Given the description of an element on the screen output the (x, y) to click on. 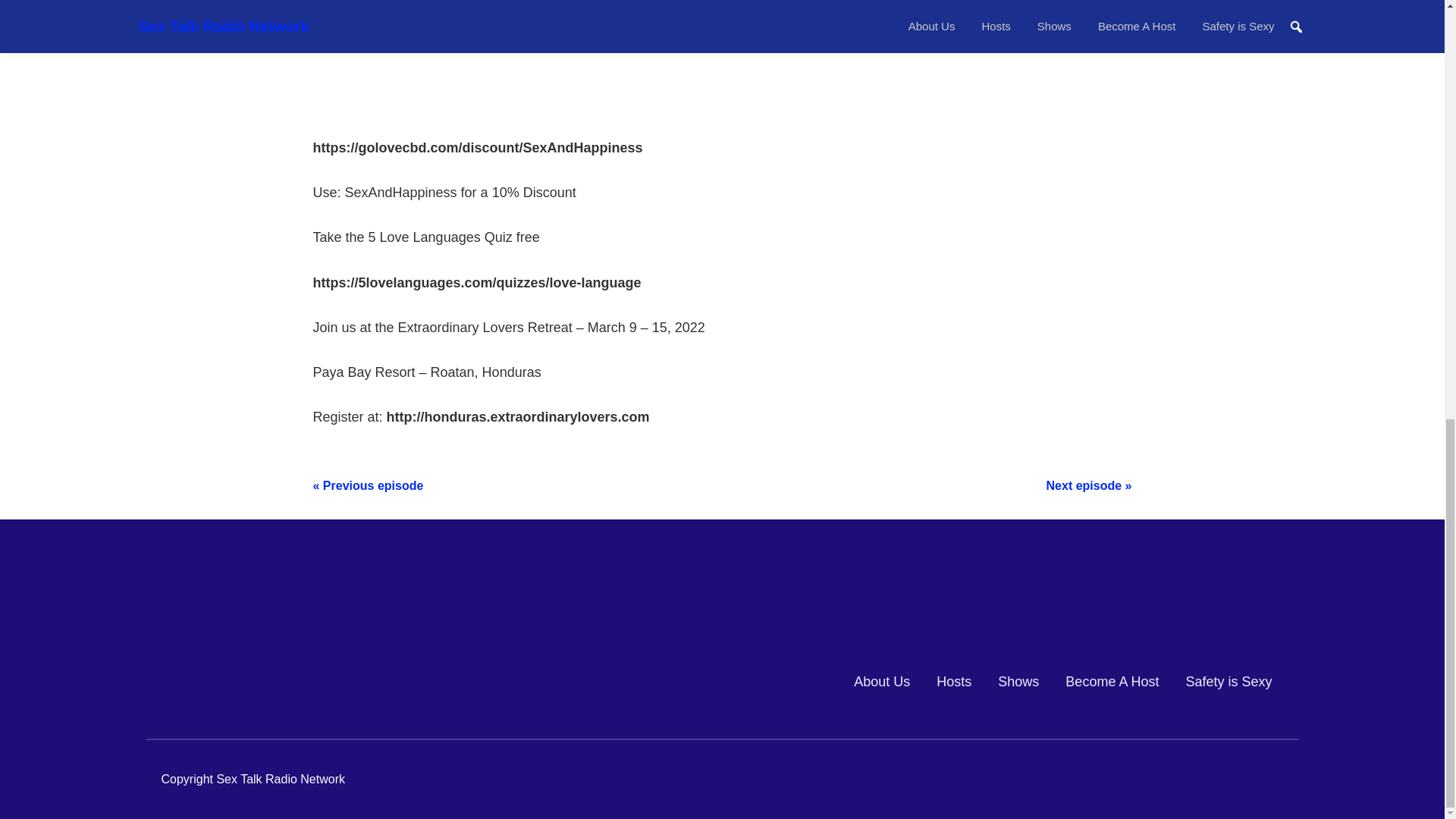
Hosts (953, 681)
About Us (881, 681)
Become A Host (1111, 681)
Safety is Sexy (1228, 681)
Shows (1018, 681)
